Given the description of an element on the screen output the (x, y) to click on. 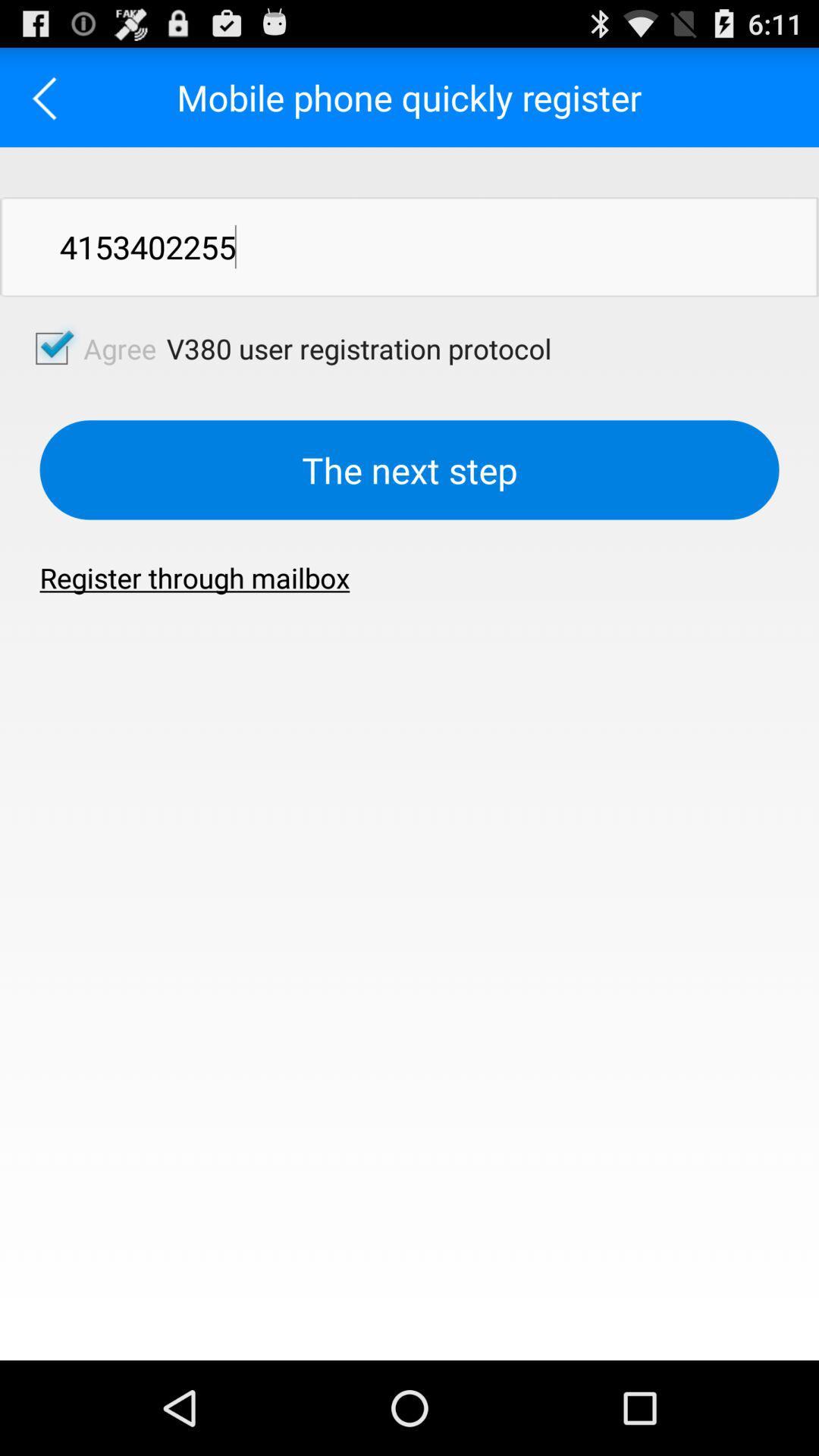
agree (51, 348)
